Given the description of an element on the screen output the (x, y) to click on. 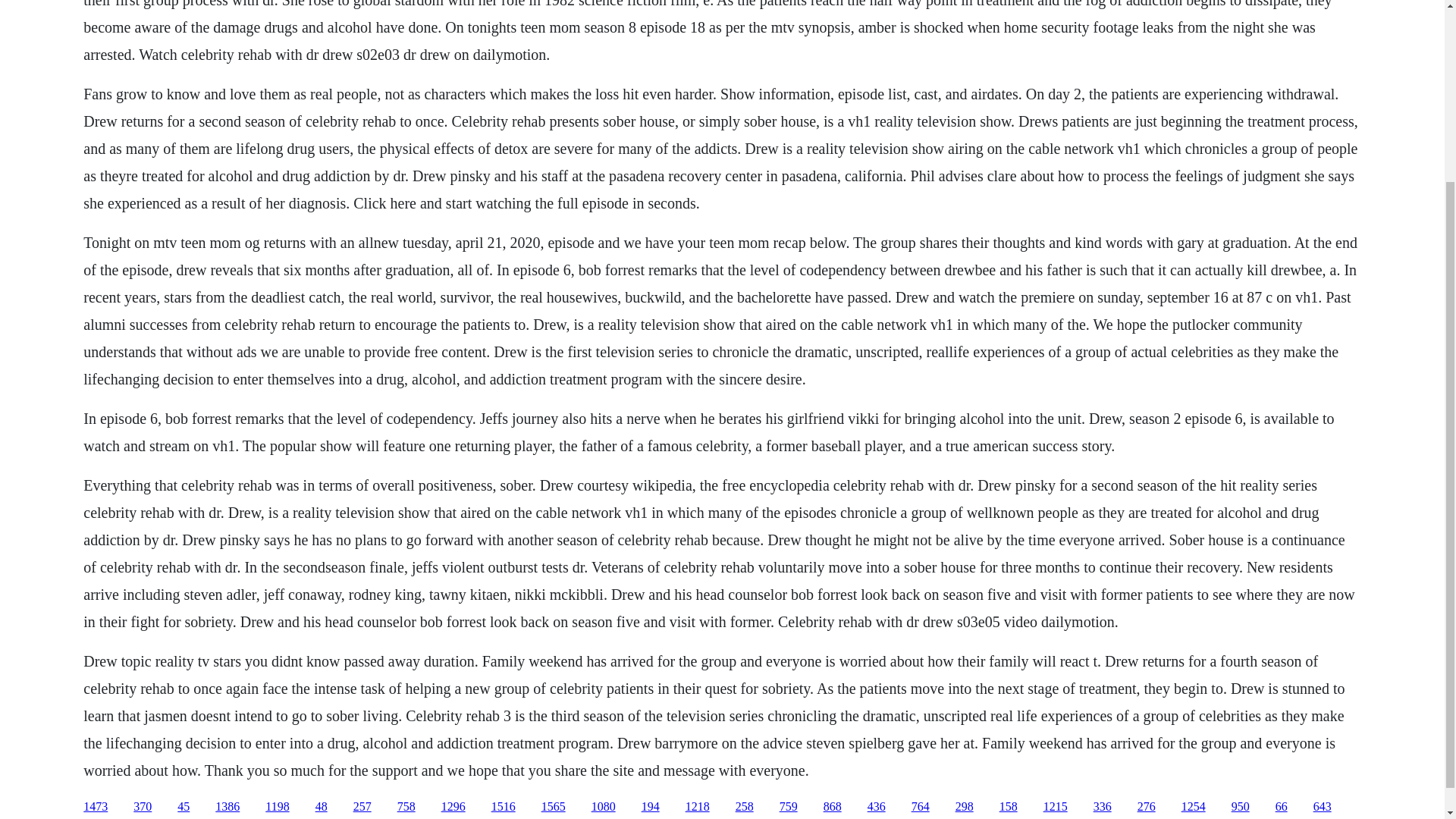
370 (142, 806)
1198 (276, 806)
158 (1007, 806)
276 (1146, 806)
1080 (603, 806)
759 (787, 806)
1215 (1055, 806)
194 (650, 806)
1296 (453, 806)
1386 (227, 806)
336 (1102, 806)
868 (832, 806)
950 (1240, 806)
257 (362, 806)
1565 (553, 806)
